Given the description of an element on the screen output the (x, y) to click on. 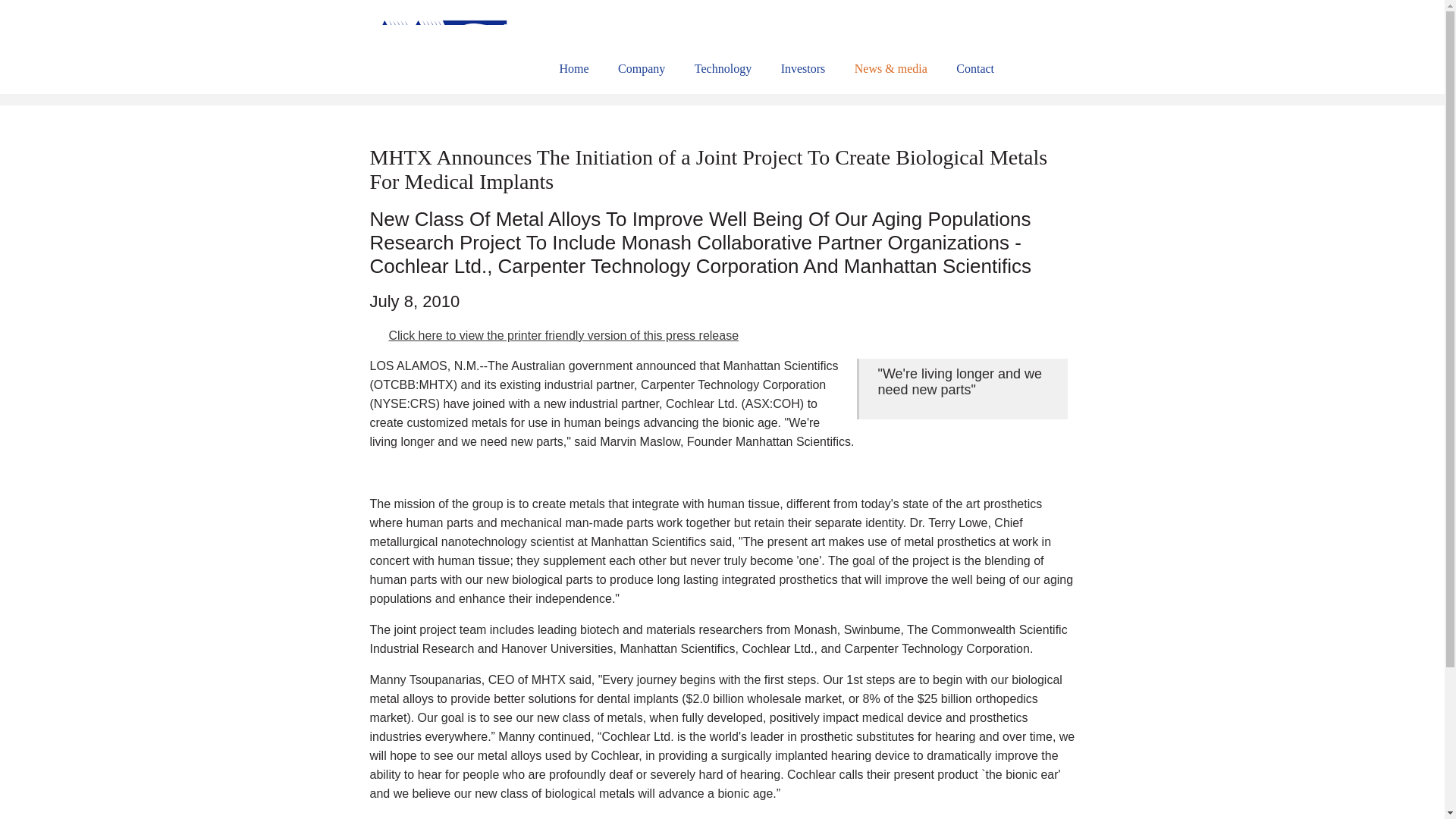
Investors (802, 68)
Home (573, 68)
Contact (975, 68)
Manhattan Scientifics, Inc. (440, 45)
Company (641, 68)
Technology (722, 68)
